Given the description of an element on the screen output the (x, y) to click on. 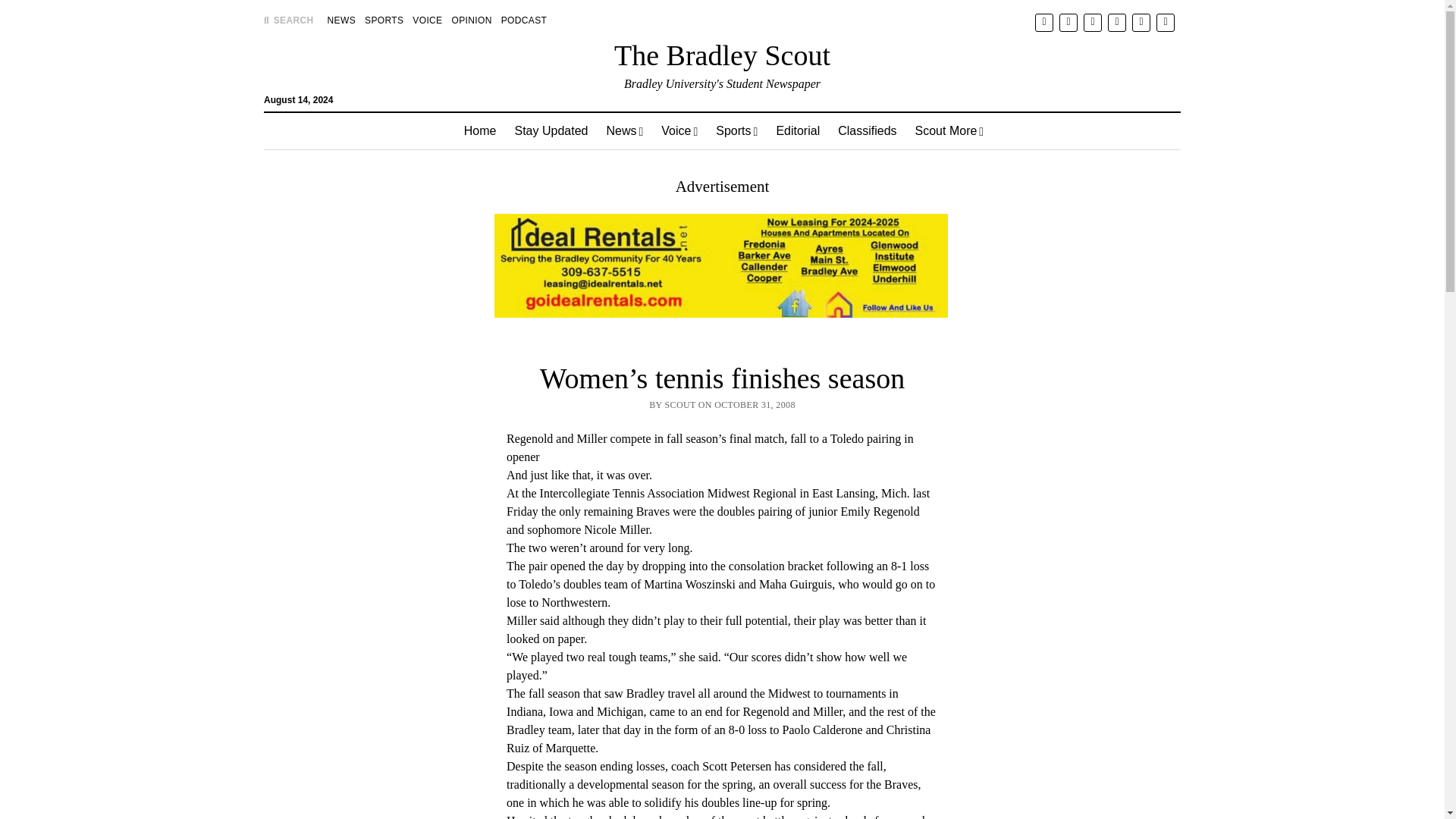
Stay Updated (550, 131)
PODCAST (523, 20)
VOICE (427, 20)
Home (479, 131)
Voice (679, 131)
OPINION (471, 20)
Search (945, 129)
Scout More (948, 131)
SPORTS (384, 20)
The Bradley Scout (721, 55)
